Given the description of an element on the screen output the (x, y) to click on. 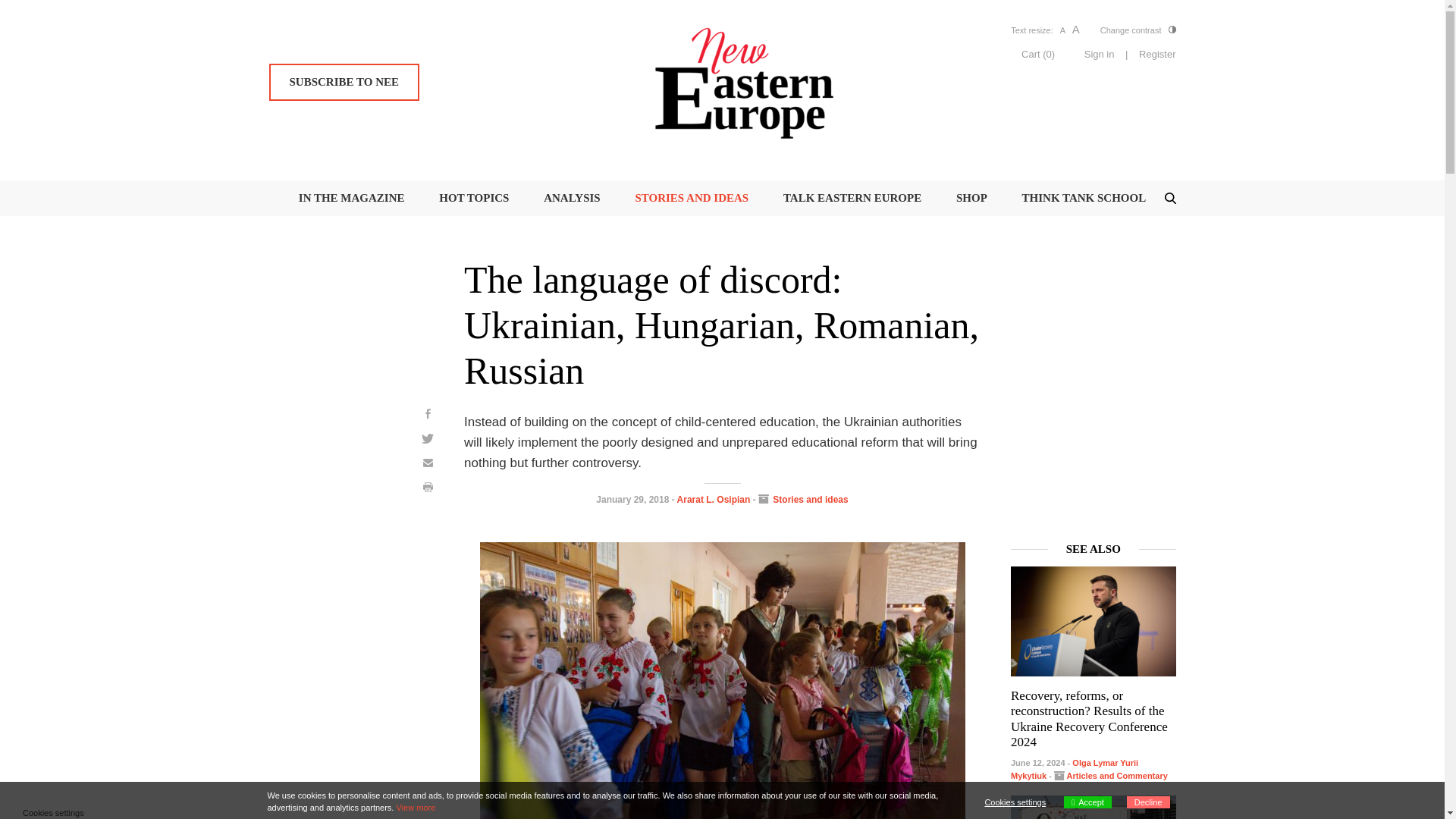
Register (1156, 54)
SHOP (971, 197)
SUBSCRIBE TO NEE (343, 81)
Search (35, 18)
Sign in (1099, 54)
Yurii Mykytiuk (1074, 769)
STORIES AND IDEAS (691, 197)
Cart (1038, 53)
ANALYSIS (571, 197)
Share on Twitter (427, 438)
Send Email (427, 462)
IN THE MAGAZINE (351, 197)
Share on Facebook (427, 413)
